Given the description of an element on the screen output the (x, y) to click on. 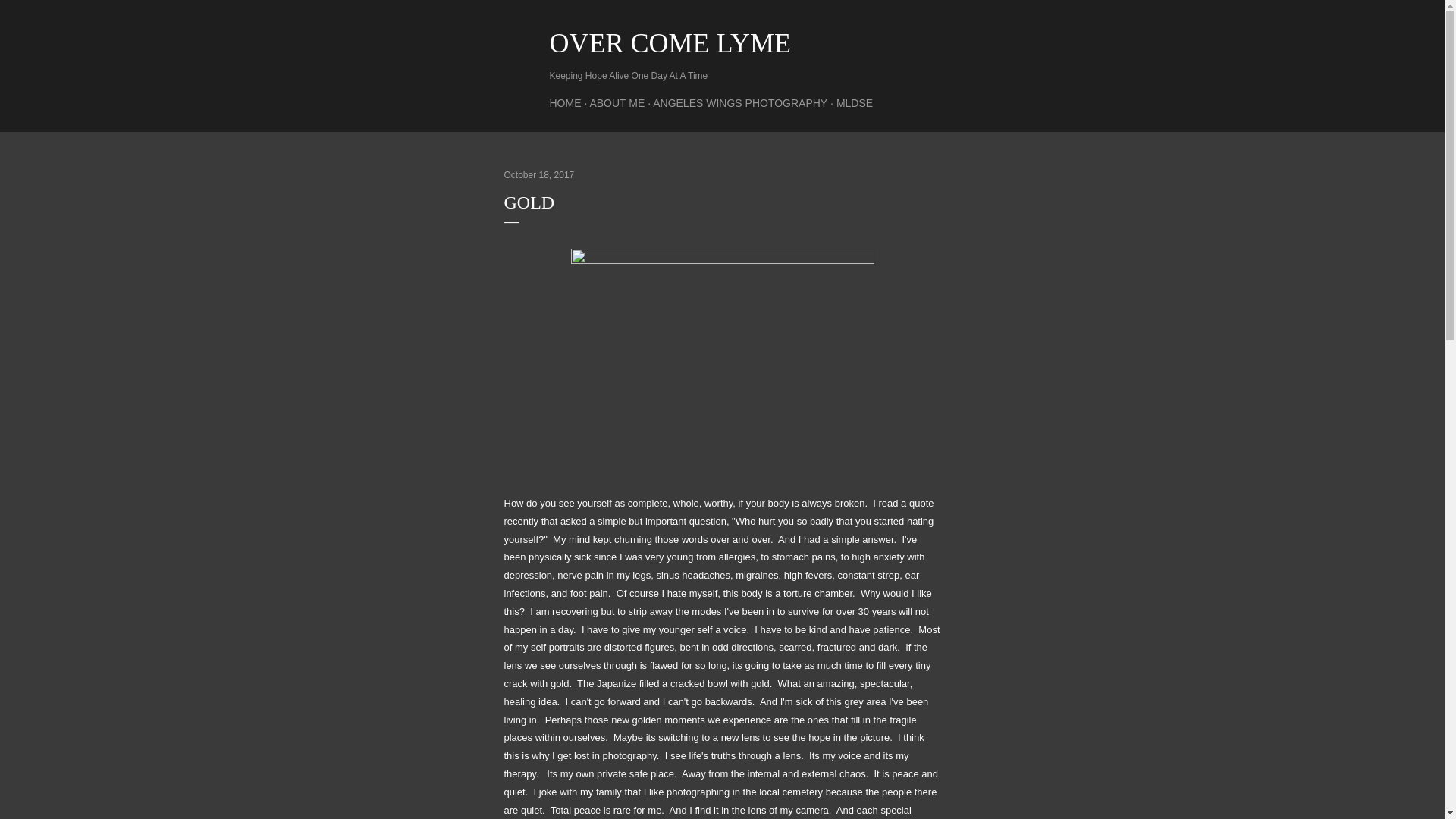
HOME (564, 102)
ABOUT ME (617, 102)
October 18, 2017 (538, 174)
permanent link (538, 174)
MLDSE (853, 102)
ANGELES WINGS PHOTOGRAPHY (739, 102)
OVER COME LYME (669, 42)
